Given the description of an element on the screen output the (x, y) to click on. 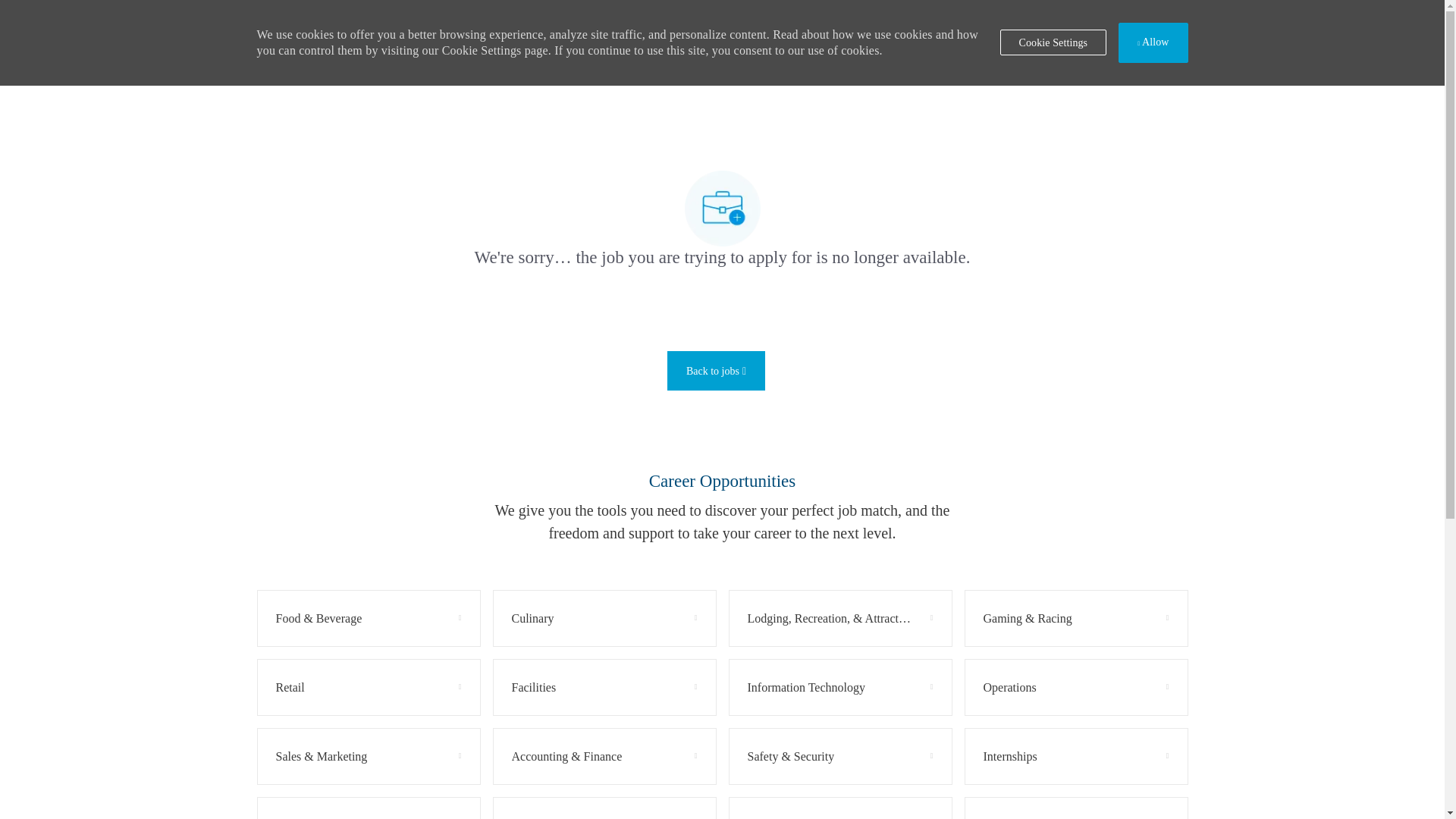
Cookie Settings (1053, 42)
Information Technology (840, 687)
Facilities (533, 687)
Allow (1153, 42)
Purchasing (840, 807)
Purchasing (775, 817)
Information Technology (806, 687)
Operations (1075, 687)
Search jobs (715, 370)
Operations (1008, 687)
Internships (1075, 756)
Human Resources (604, 807)
Internships (1009, 756)
Culinary (604, 618)
Retail (290, 687)
